Given the description of an element on the screen output the (x, y) to click on. 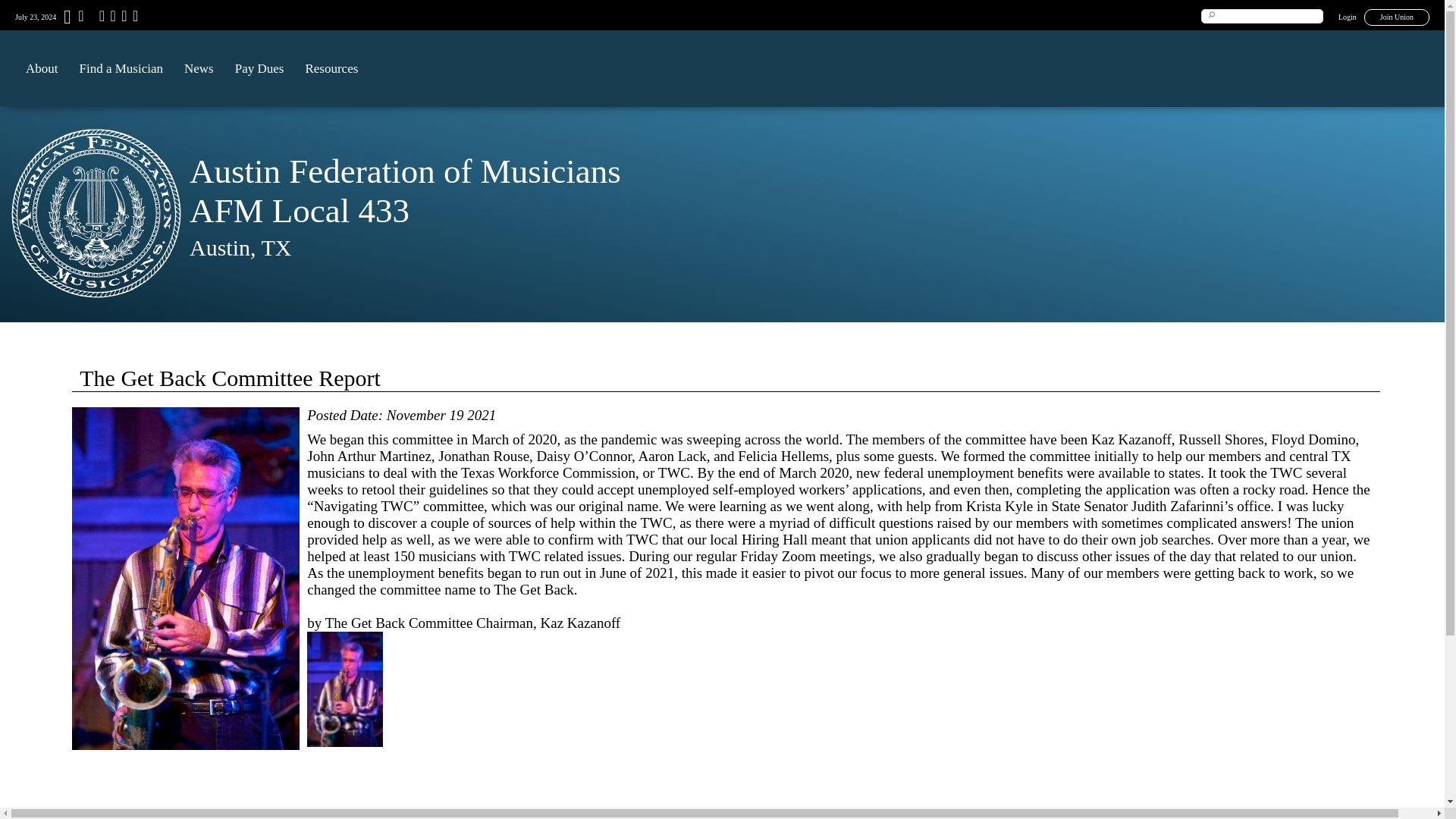
click to view instagram account (133, 18)
Join Union (1396, 17)
click to view facebook account (100, 18)
calendar (80, 18)
Find a Musician (120, 68)
News (198, 68)
About (41, 68)
click to view twitter account (110, 18)
click to view youtube account (121, 18)
Login (1347, 16)
home (66, 20)
